Given the description of an element on the screen output the (x, y) to click on. 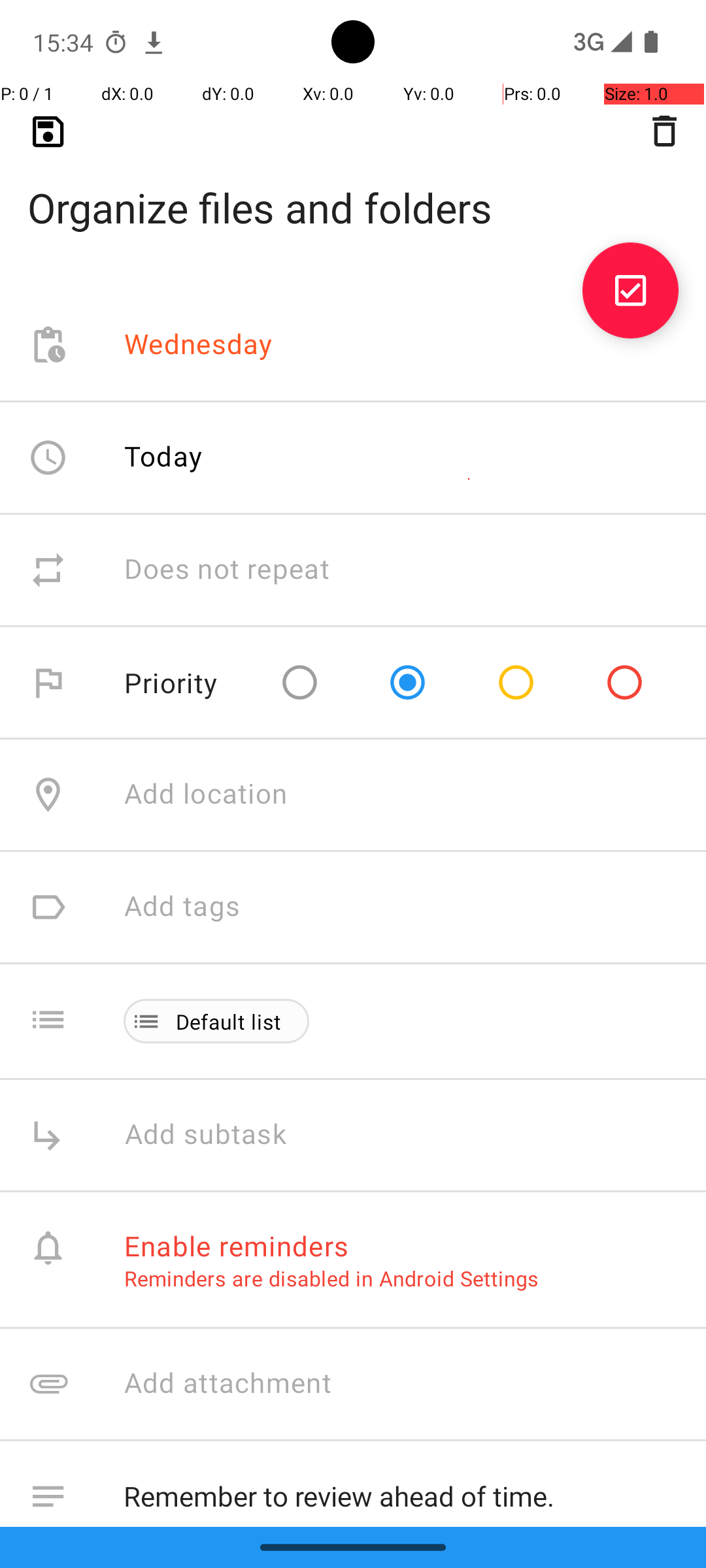
Organize files and folders Element type: android.widget.EditText (353, 186)
Remember to review ahead of time. Element type: android.widget.EditText (400, 1493)
